Given the description of an element on the screen output the (x, y) to click on. 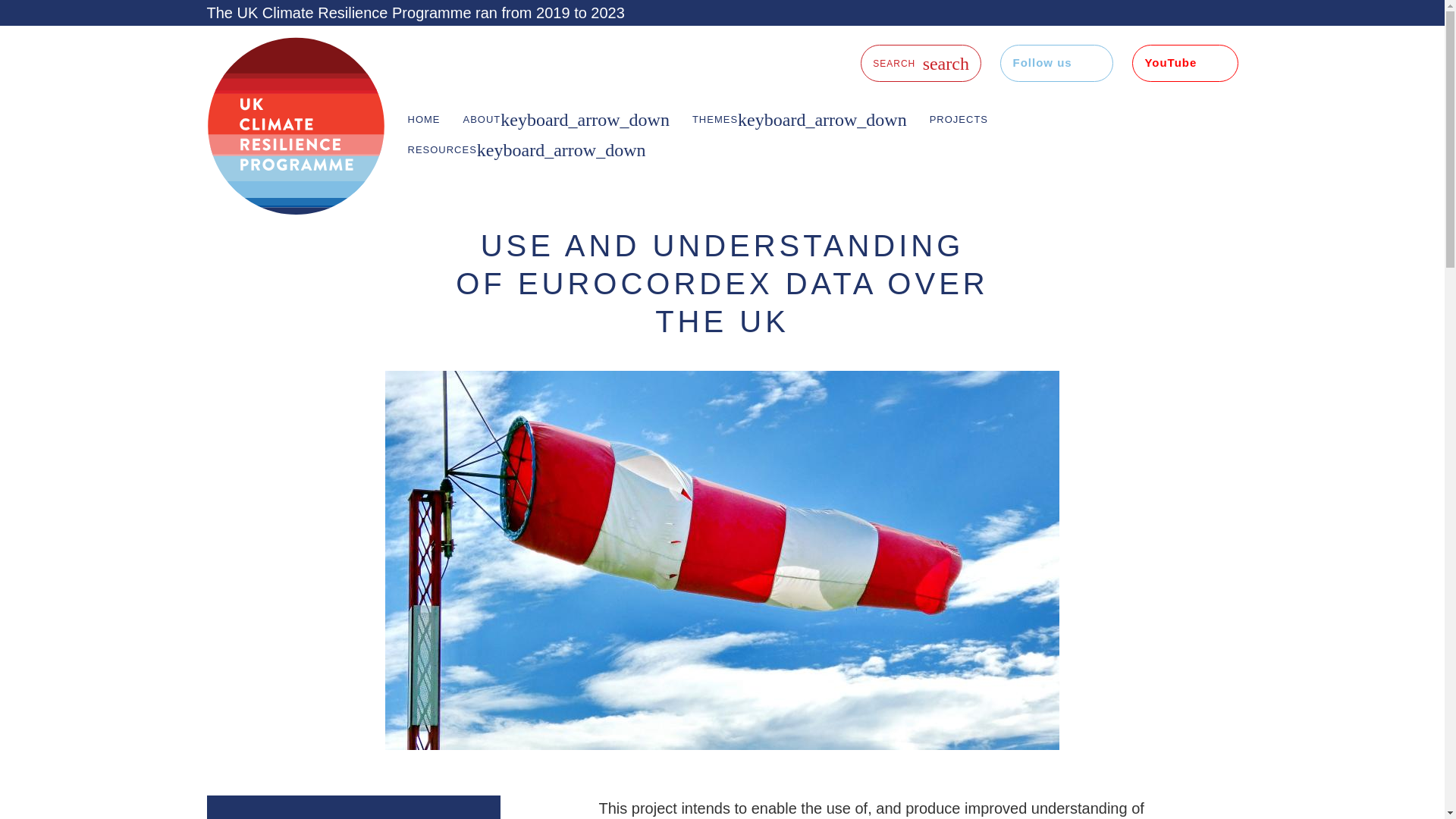
Projects (958, 119)
HOME (423, 119)
PROJECTS (958, 119)
Resources (526, 150)
Follow us (1056, 63)
About (566, 119)
SEARCH search (920, 63)
Home (423, 119)
YouTube (1184, 63)
Themes (799, 119)
